Given the description of an element on the screen output the (x, y) to click on. 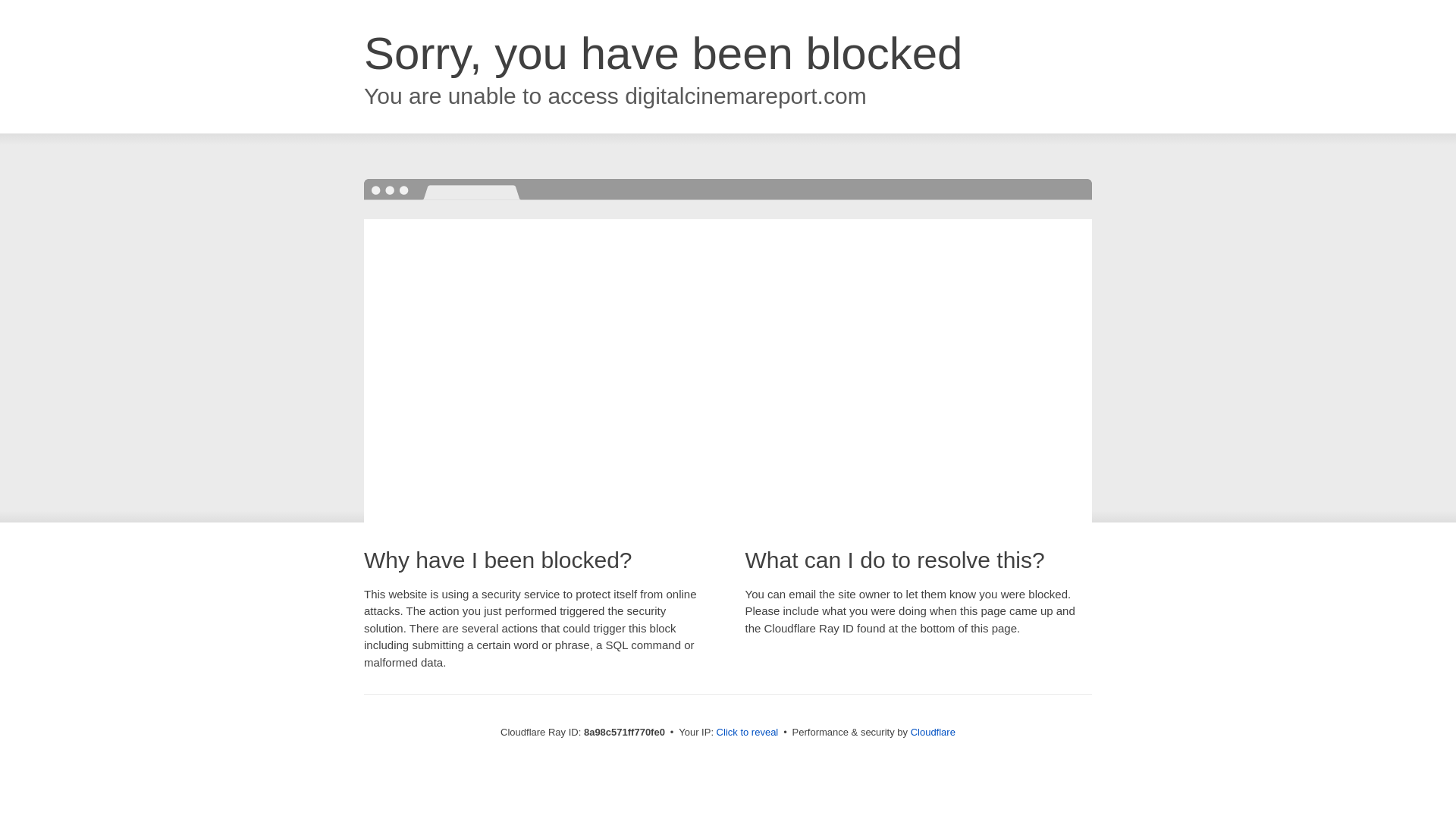
Click to reveal (747, 732)
Cloudflare (933, 731)
